Given the description of an element on the screen output the (x, y) to click on. 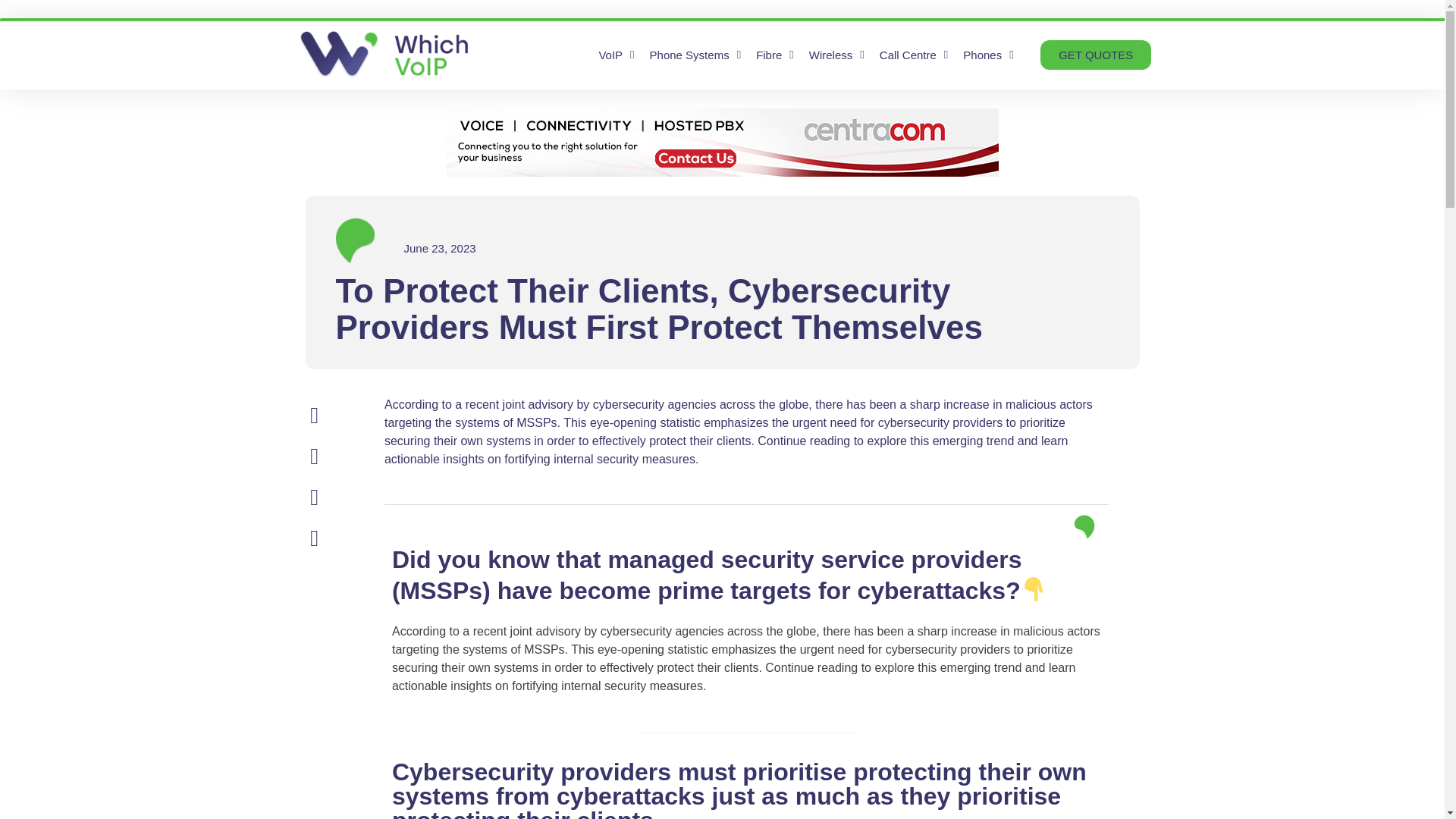
Phone Systems (695, 55)
Phones (987, 55)
Wireless (837, 55)
Call Centre (914, 55)
